Given the description of an element on the screen output the (x, y) to click on. 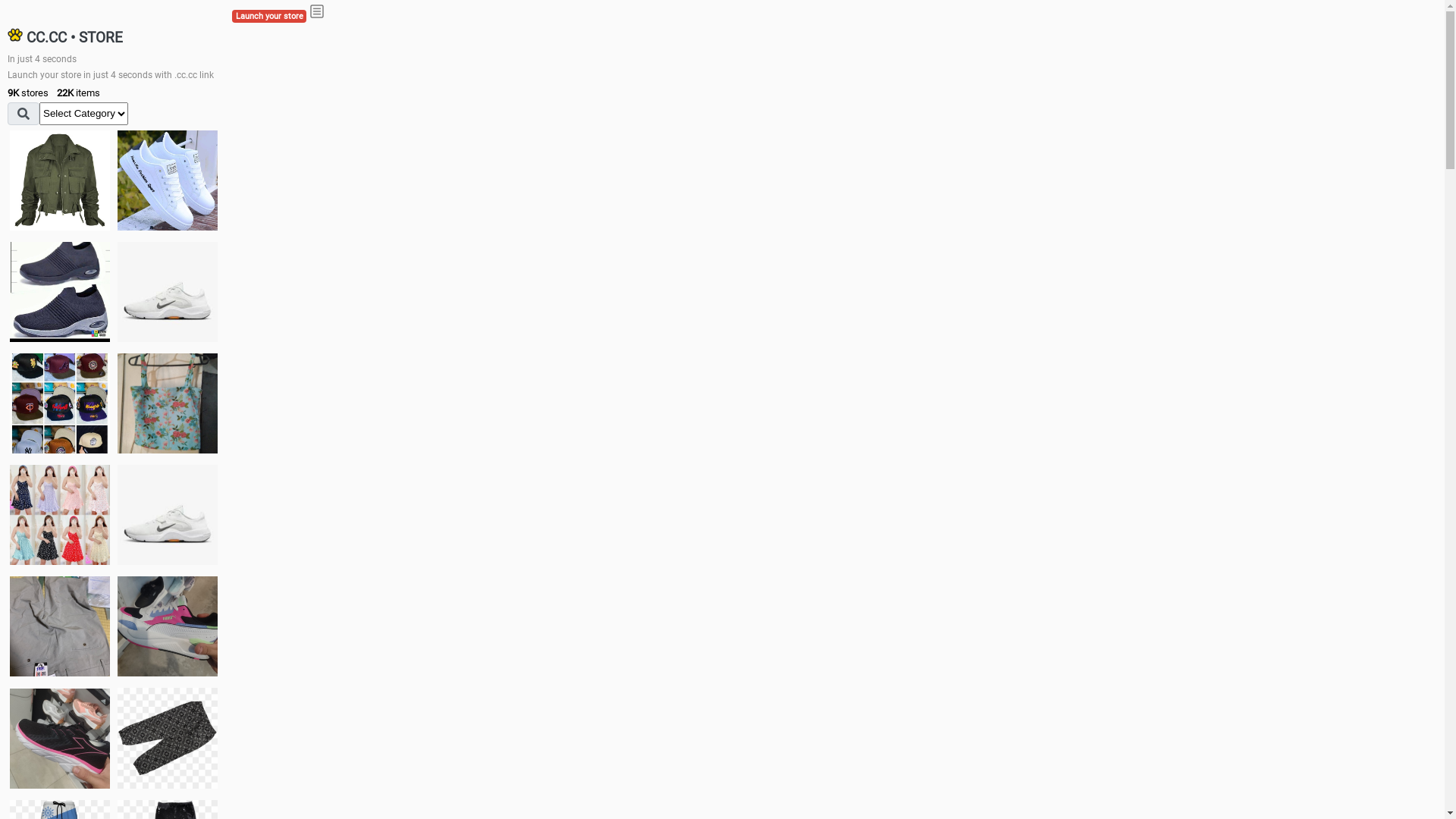
Zapatillas Element type: hover (59, 738)
Zapatillas pumas Element type: hover (167, 626)
jacket Element type: hover (59, 180)
Launch your store Element type: text (269, 15)
white shoes Element type: hover (167, 180)
Short pant Element type: hover (167, 737)
Things we need Element type: hover (59, 403)
Dress/square nect top Element type: hover (59, 514)
Ukay cloth Element type: hover (167, 403)
Shoes for boys Element type: hover (167, 291)
Shoes Element type: hover (167, 514)
shoes for boys Element type: hover (59, 291)
